Given the description of an element on the screen output the (x, y) to click on. 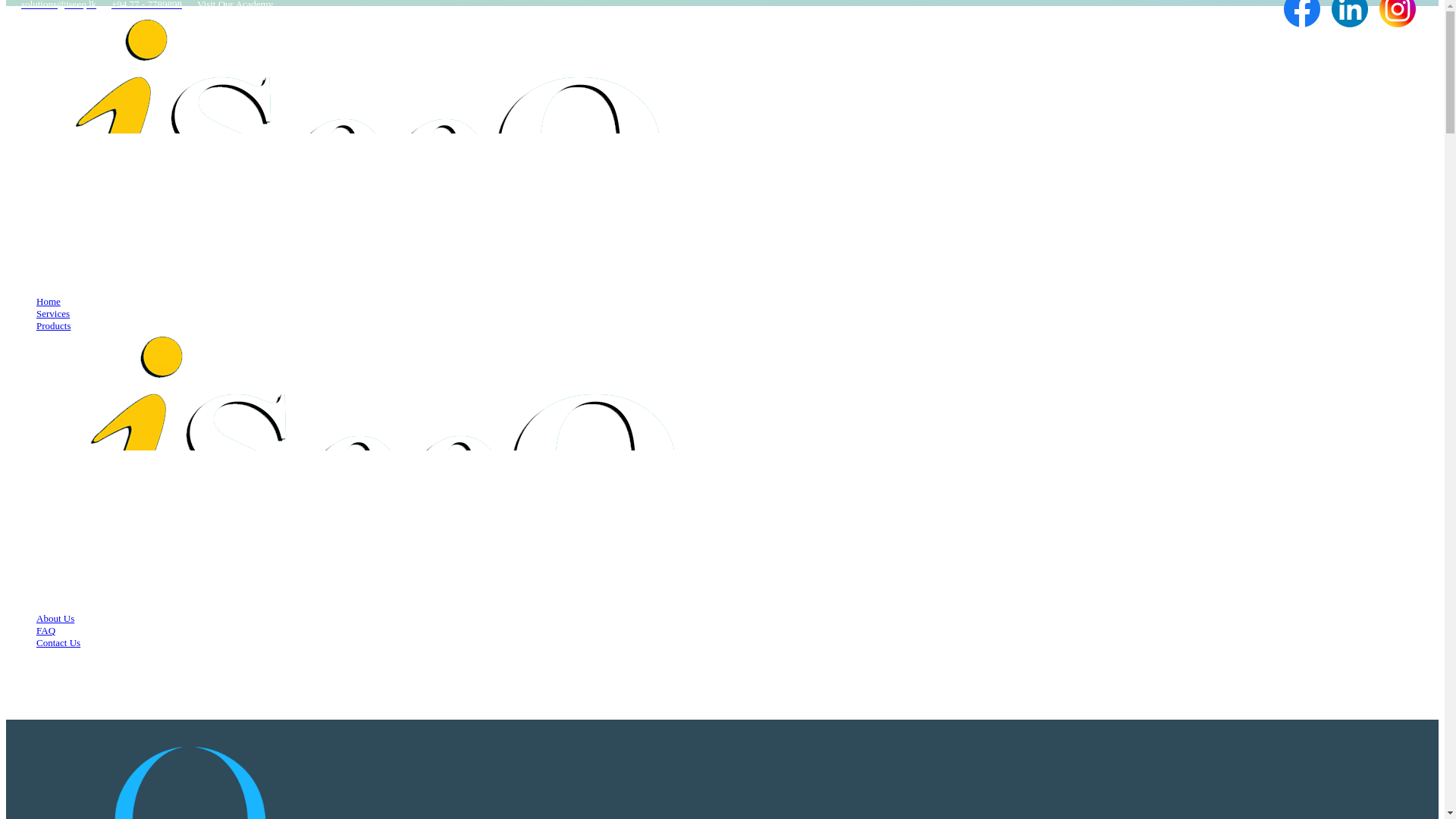
Services (52, 313)
Visit Our Academy (234, 4)
Products (53, 325)
Home (48, 301)
About Us (55, 618)
FAQ (45, 630)
Contact Us (58, 642)
